Given the description of an element on the screen output the (x, y) to click on. 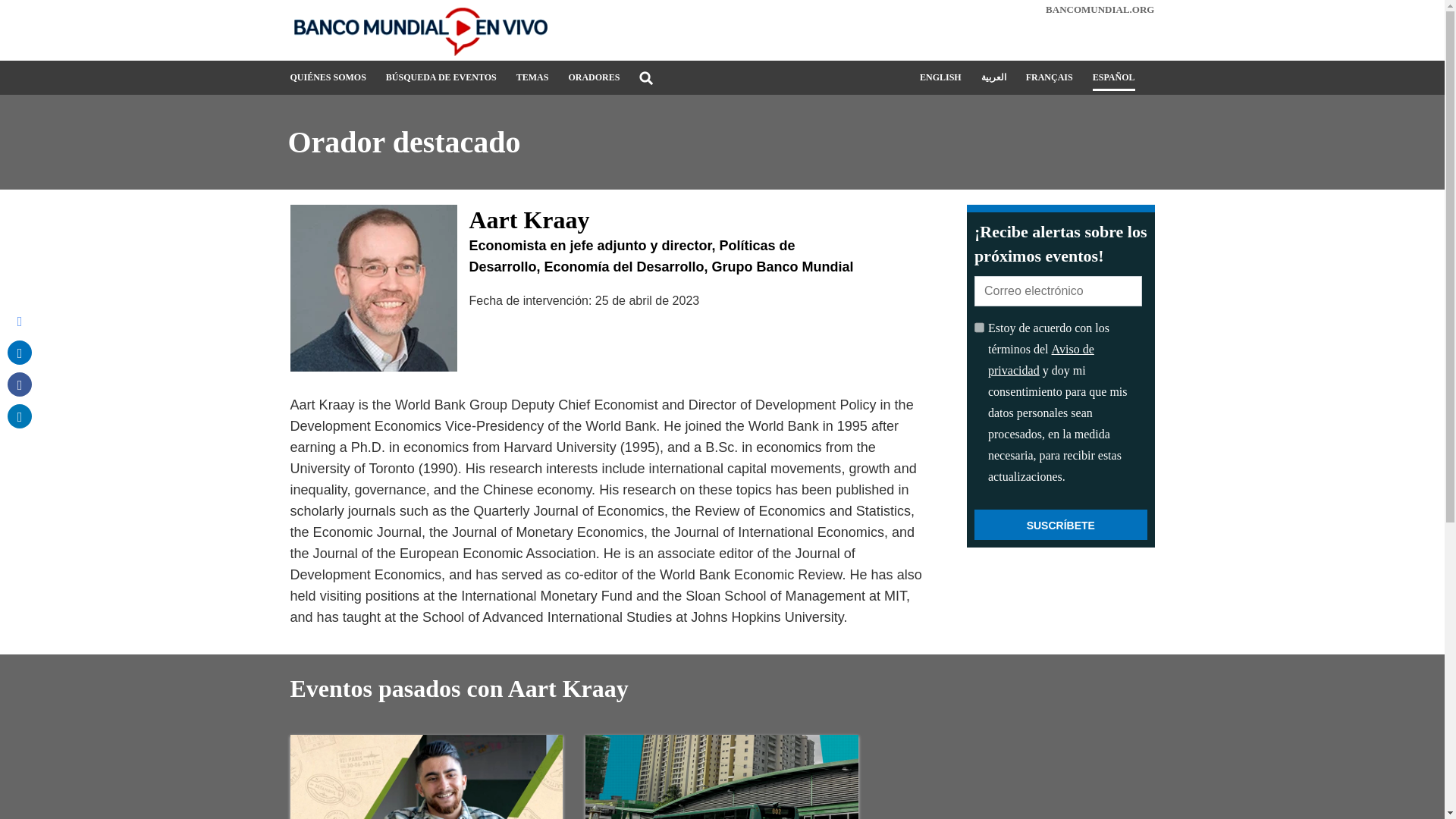
ORADORES (593, 82)
Banco Mundial En Vivo (425, 30)
ORADORES (593, 82)
ENGLISH (940, 81)
Post (19, 352)
Facebook (19, 384)
Email (19, 320)
